Given the description of an element on the screen output the (x, y) to click on. 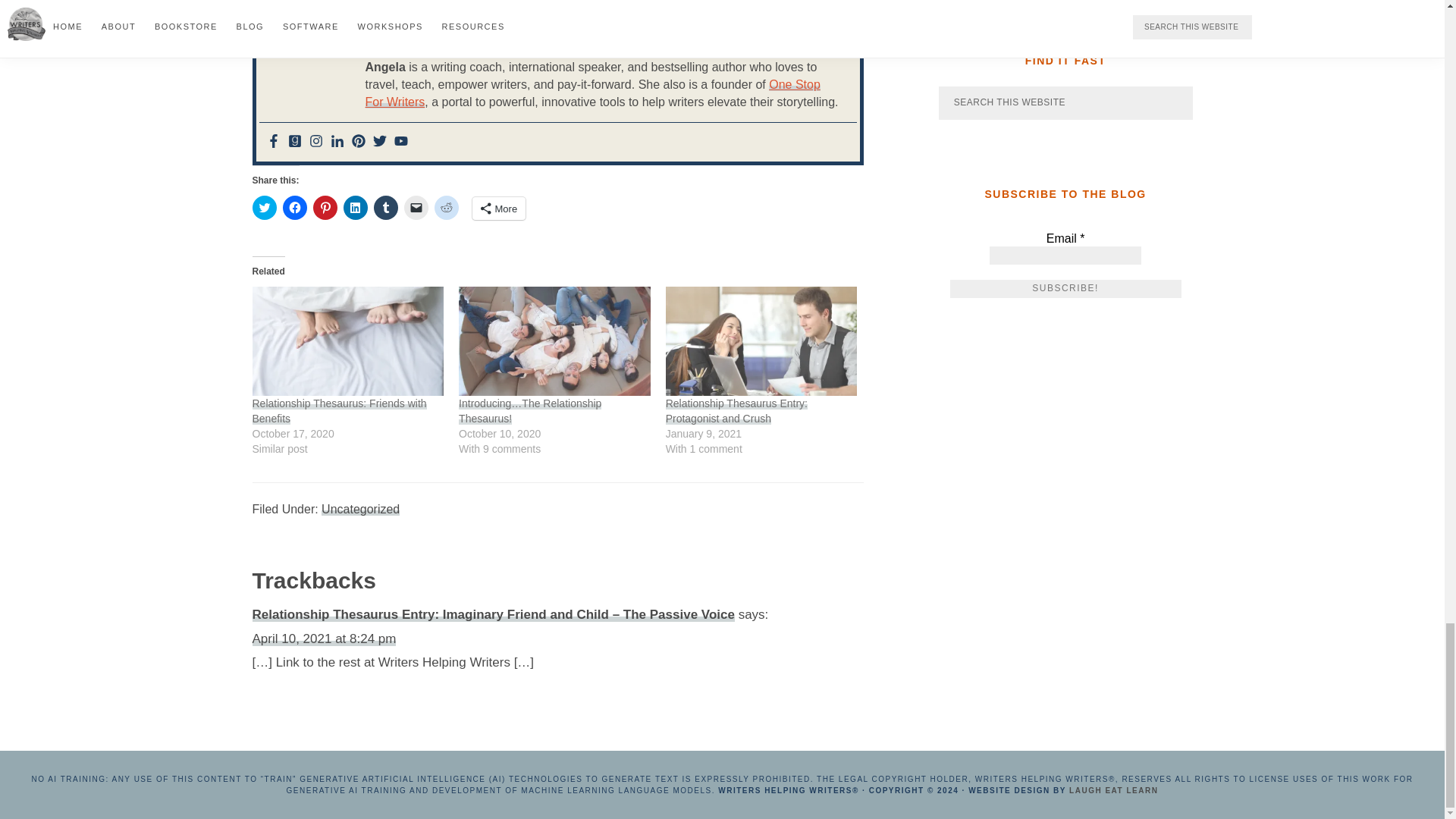
Click to share on Reddit (445, 207)
Relationship Thesaurus: Friends with Benefits (347, 340)
Click to share on LinkedIn (354, 207)
Click to share on Tumblr (384, 207)
Click to email a link to a friend (415, 207)
Click to share on Twitter (263, 207)
Subscribe! (1065, 289)
Click to share on Facebook (293, 207)
Click to share on Pinterest (324, 207)
